Given the description of an element on the screen output the (x, y) to click on. 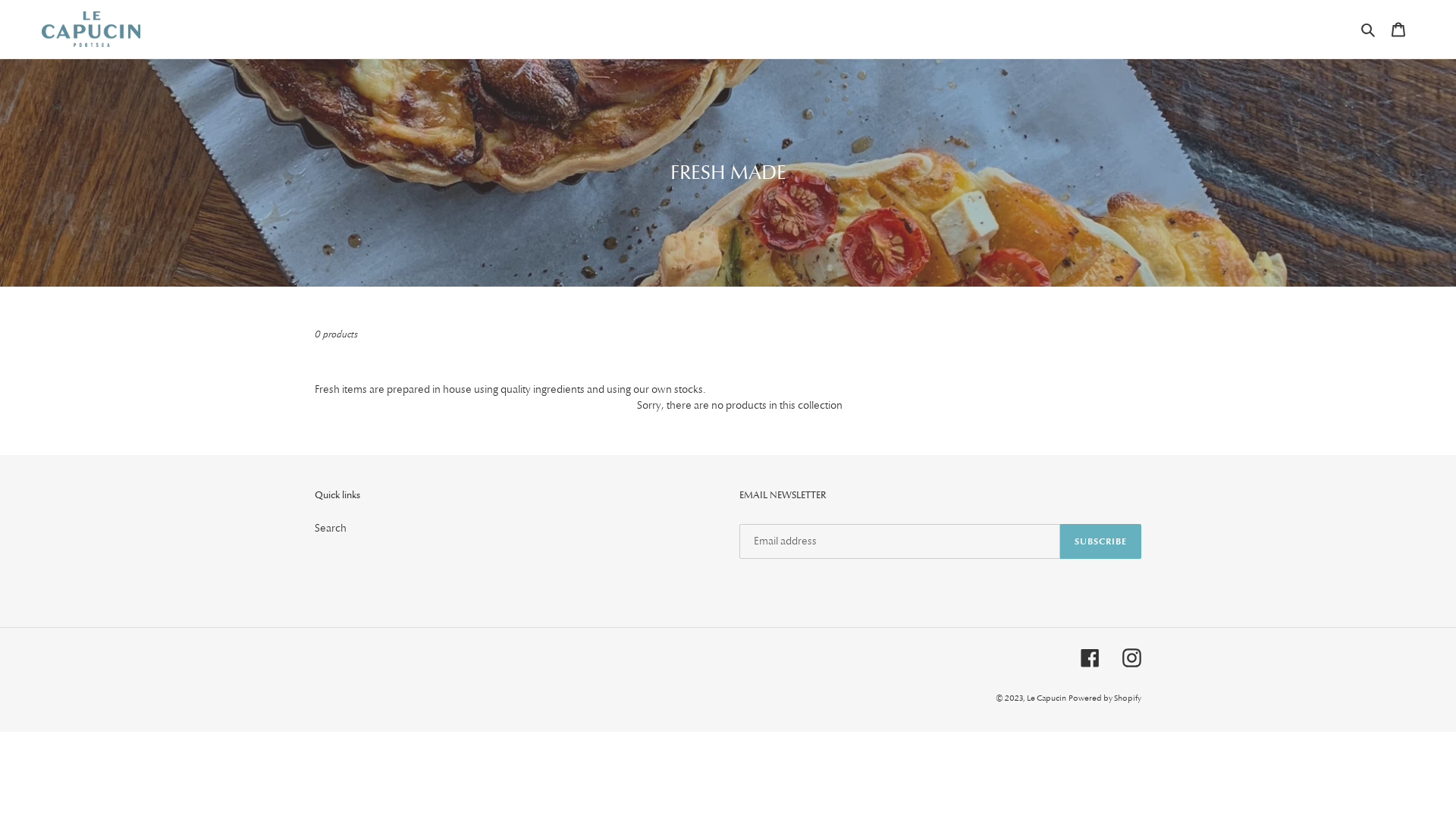
Powered by Shopify Element type: text (1104, 697)
Search Element type: text (1368, 29)
Search Element type: text (330, 527)
Le Capucin Element type: text (1046, 697)
SUBSCRIBE Element type: text (1100, 541)
Cart Element type: text (1398, 29)
Instagram Element type: text (1131, 657)
Facebook Element type: text (1089, 657)
